Given the description of an element on the screen output the (x, y) to click on. 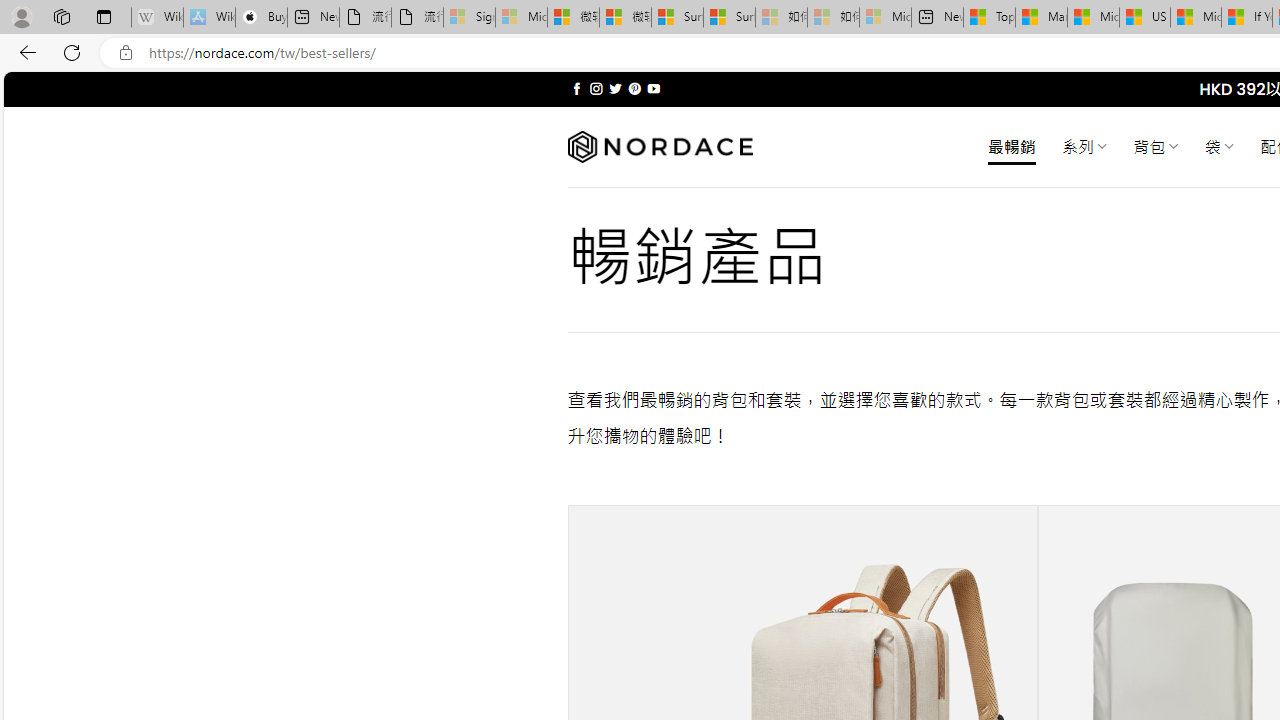
New tab (936, 17)
US Heat Deaths Soared To Record High Last Year (1144, 17)
Tab actions menu (104, 16)
Nordace (659, 147)
Follow on Pinterest (634, 88)
